Given the description of an element on the screen output the (x, y) to click on. 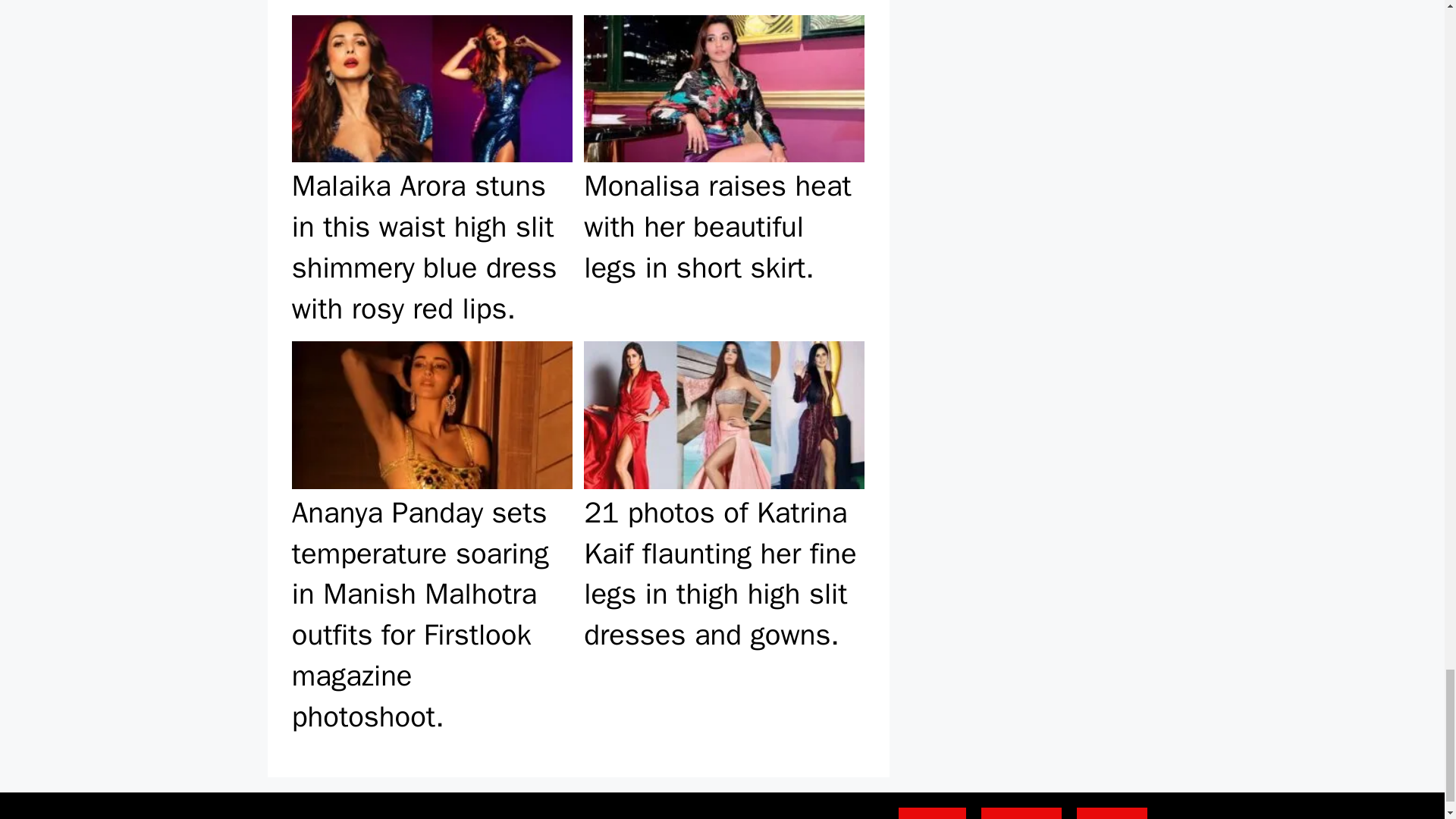
Tamannaah in thigh high slit dress makes fans crazy. (723, 4)
Monalisa raises heat with her beautiful legs in short skirt. (723, 171)
